Given the description of an element on the screen output the (x, y) to click on. 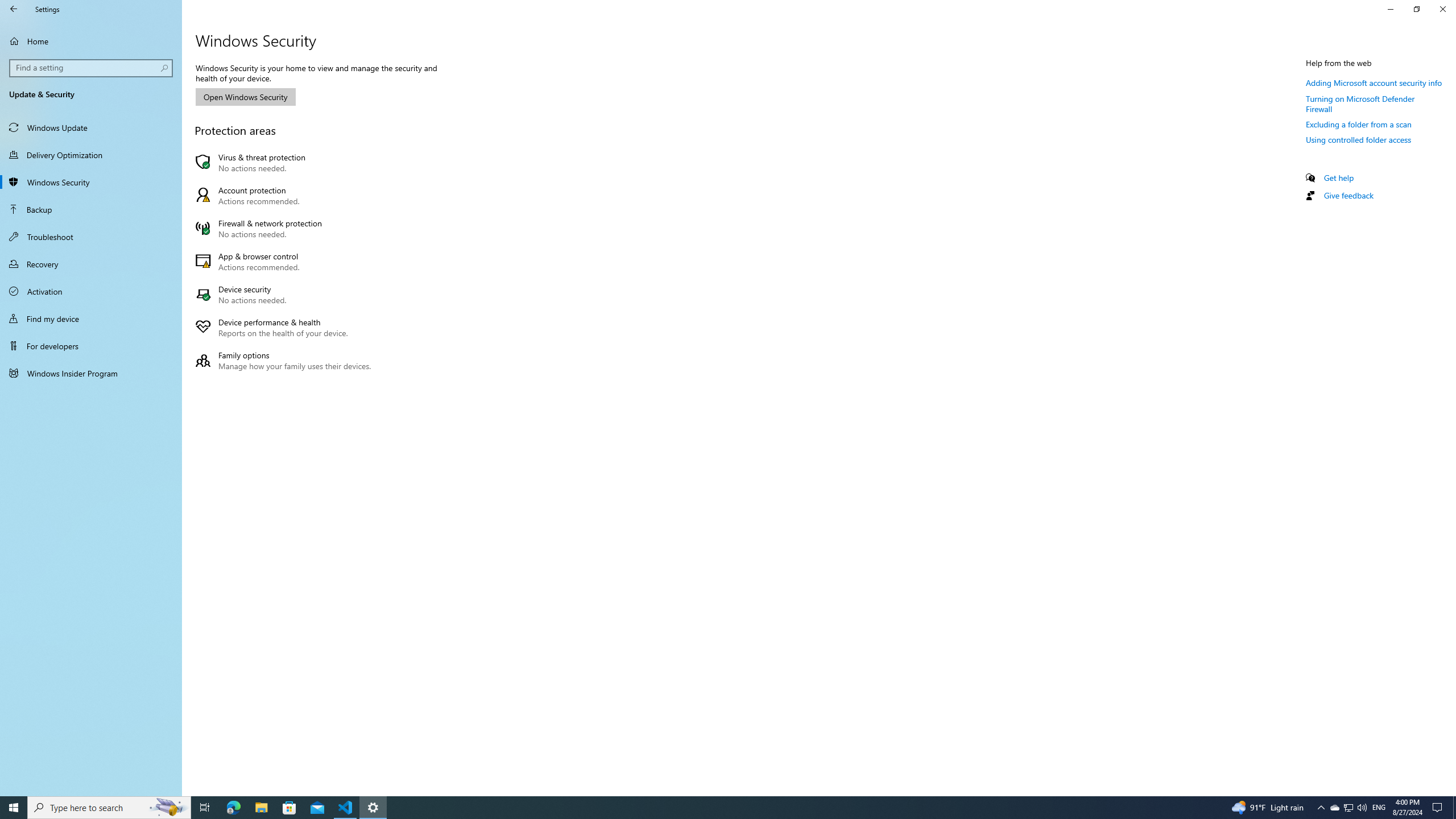
Close Settings (1442, 9)
Action Center, No new notifications (1439, 807)
Q2790: 100% (1361, 807)
Search highlights icon opens search home window (167, 807)
Backup (1347, 807)
Recovery (91, 208)
Using controlled folder access (91, 263)
Home (1359, 139)
Tray Input Indicator - English (United States) (91, 40)
Family options (1378, 807)
Excluding a folder from a scan (1333, 807)
Turning on Microsoft Defender Firewall (285, 359)
